Given the description of an element on the screen output the (x, y) to click on. 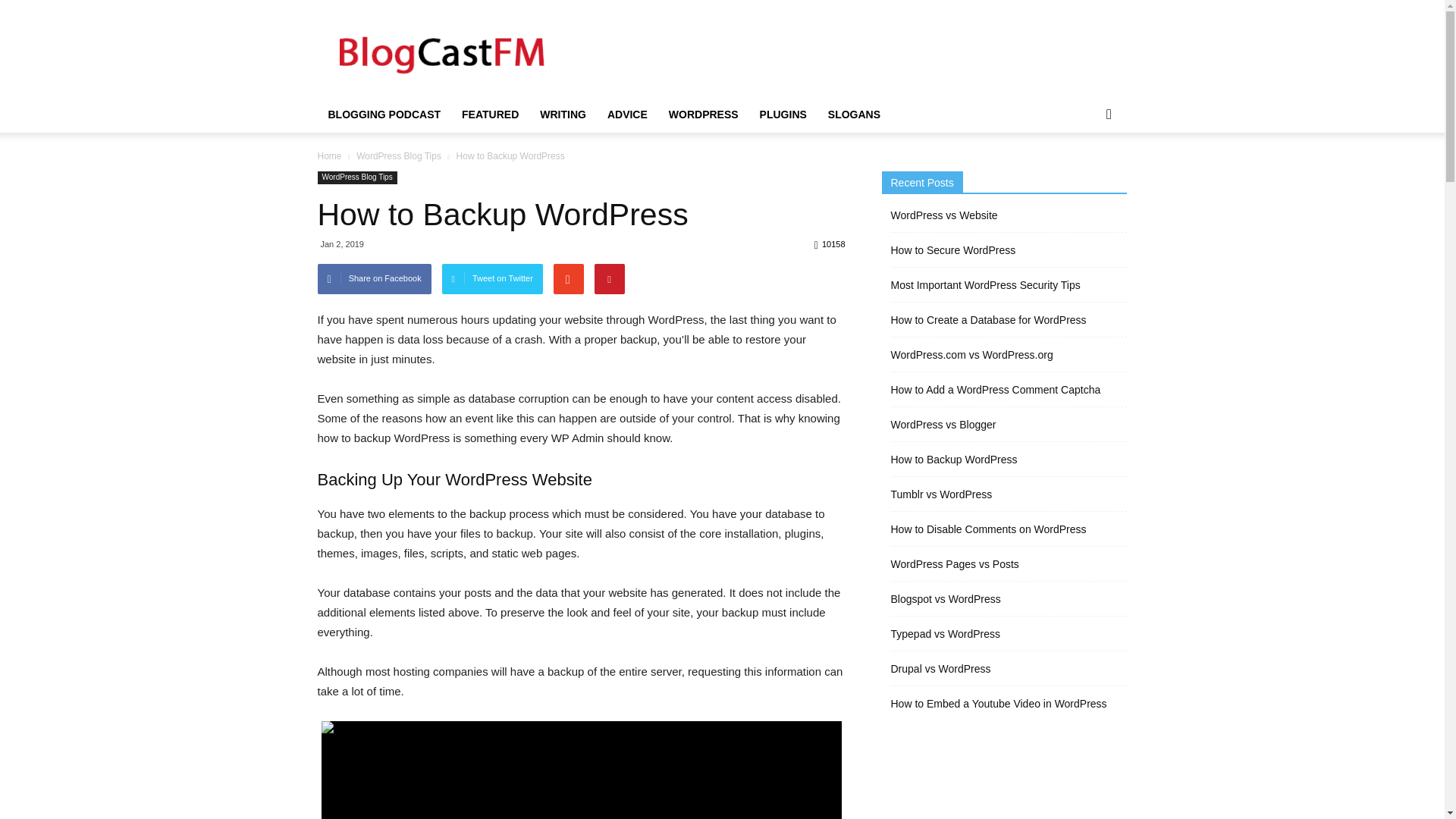
View all posts in WordPress Blog Tips (398, 155)
